Given the description of an element on the screen output the (x, y) to click on. 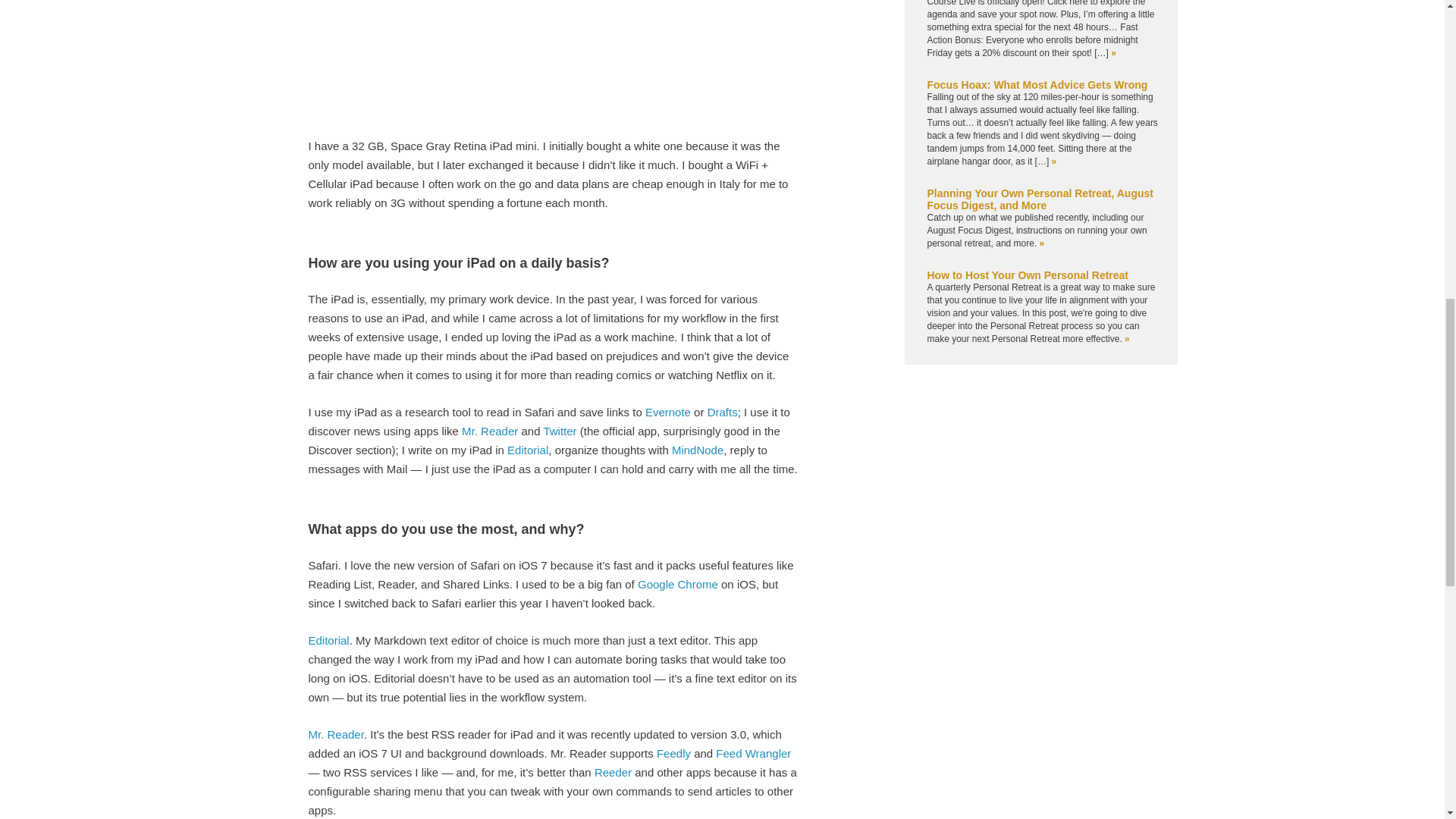
Drafts (722, 411)
Google Chrome (677, 584)
Mr. Reader (489, 431)
Reeder (612, 771)
Editorial (527, 449)
Feedly (673, 753)
MindNode (697, 449)
Feed Wrangler (753, 753)
Twitter (559, 431)
Mr. Reader (334, 734)
